Given the description of an element on the screen output the (x, y) to click on. 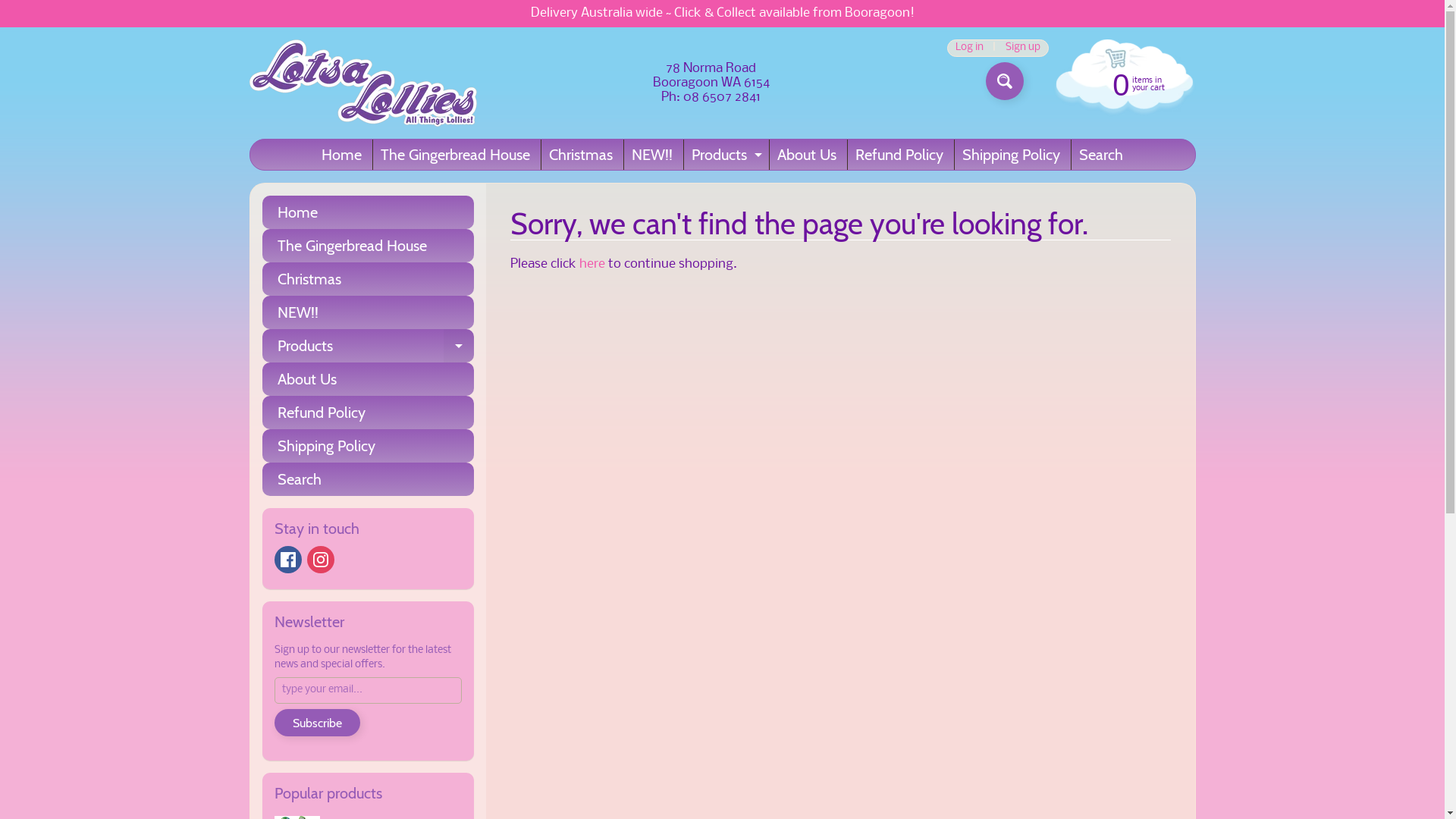
Home Element type: text (368, 212)
0
items in your cart Element type: text (1122, 83)
Search Element type: text (368, 478)
Christmas Element type: text (580, 154)
Shipping Policy Element type: text (368, 445)
Expand child menu Element type: text (757, 154)
Christmas Element type: text (368, 278)
The Gingerbread House Element type: text (455, 154)
lotsalollies Element type: hover (362, 82)
Search Element type: text (1100, 154)
Shipping Policy Element type: text (1010, 154)
Refund Policy Element type: text (368, 412)
About Us Element type: text (368, 378)
Log in Element type: text (968, 48)
NEW!! Element type: text (368, 312)
Refund Policy Element type: text (898, 154)
NEW!! Element type: text (652, 154)
Products
Expand child menu Element type: text (724, 154)
The Gingerbread House Element type: text (368, 245)
Home Element type: text (341, 154)
Instagram Element type: hover (319, 559)
Subscribe Element type: text (317, 723)
About Us Element type: text (806, 154)
Expand child menu Element type: text (458, 345)
Facebook Element type: hover (287, 559)
Products
Expand child menu Element type: text (368, 345)
Sign up Element type: text (1022, 48)
Search Element type: text (1004, 81)
here Element type: text (592, 264)
